Given the description of an element on the screen output the (x, y) to click on. 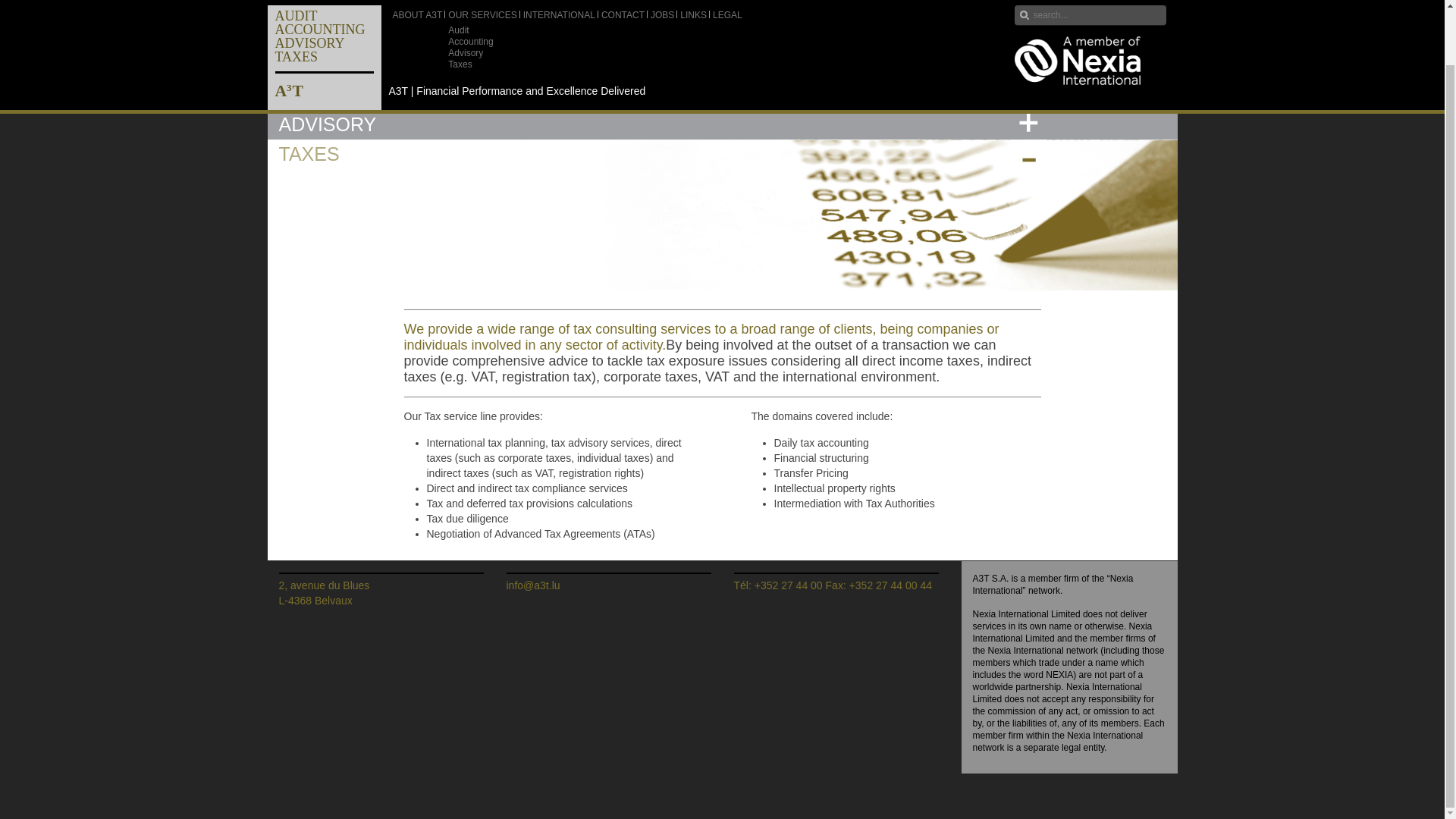
Taxes (327, 26)
